Given the description of an element on the screen output the (x, y) to click on. 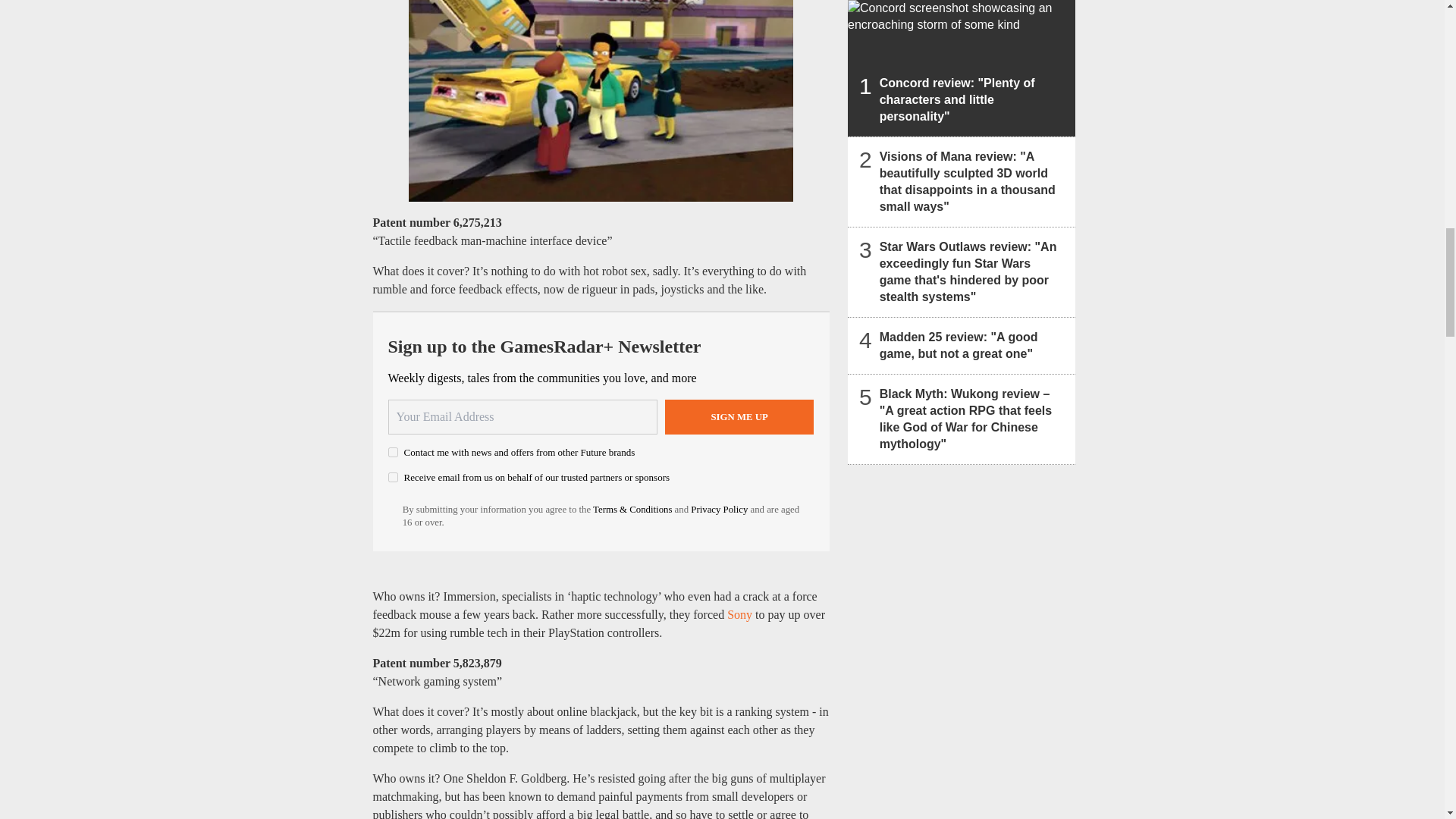
on (392, 477)
on (392, 452)
Sign me up (739, 416)
